Given the description of an element on the screen output the (x, y) to click on. 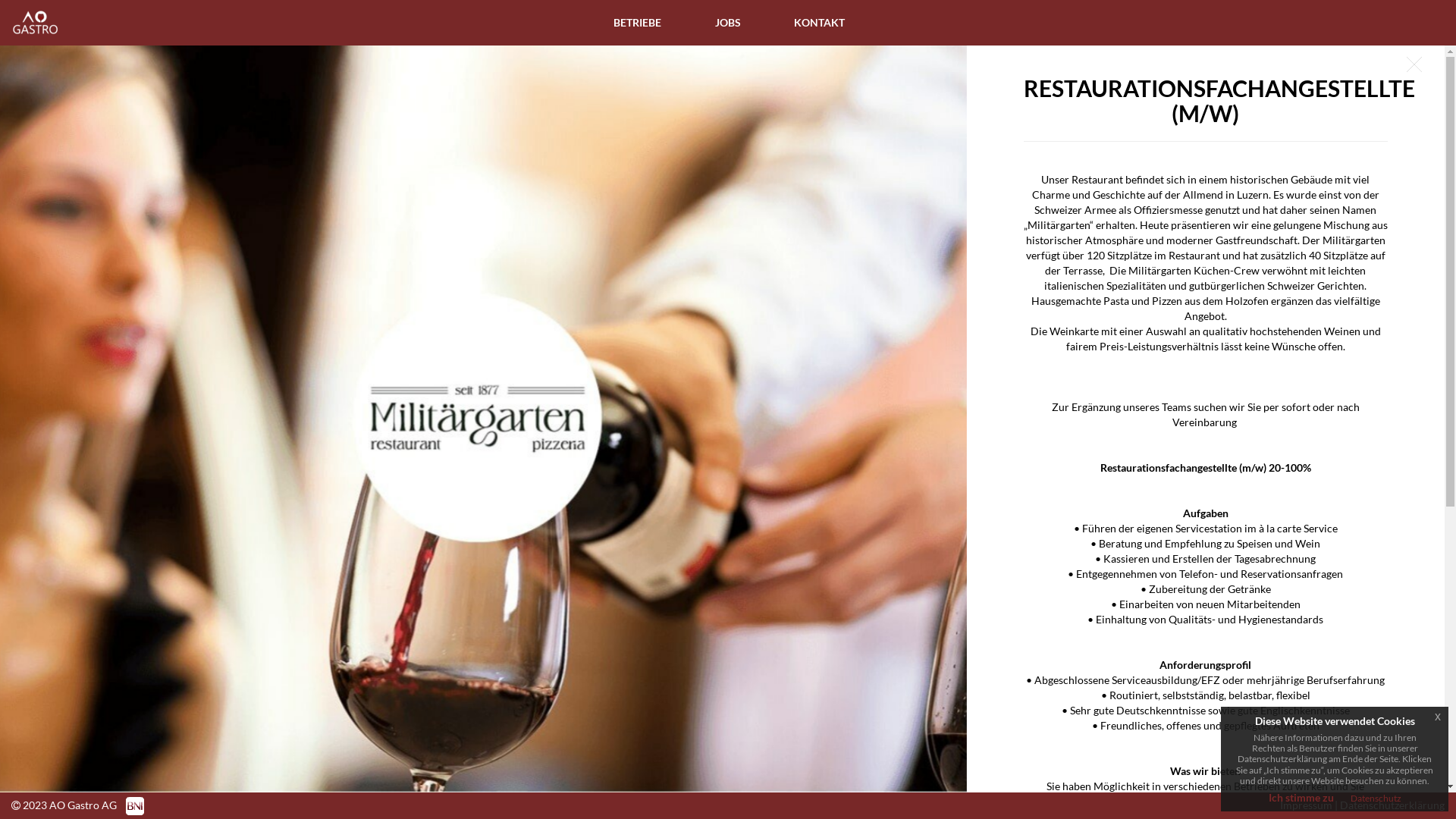
BETRIEBE Element type: text (636, 22)
KONTAKT Element type: text (818, 22)
Impressum Element type: text (1306, 804)
Ich stimme zu Element type: text (1300, 796)
Datenschutz Element type: text (1374, 797)
x Element type: text (1437, 716)
JOBS Element type: text (727, 22)
Zur Startseite Element type: hover (11, 22)
